Given the description of an element on the screen output the (x, y) to click on. 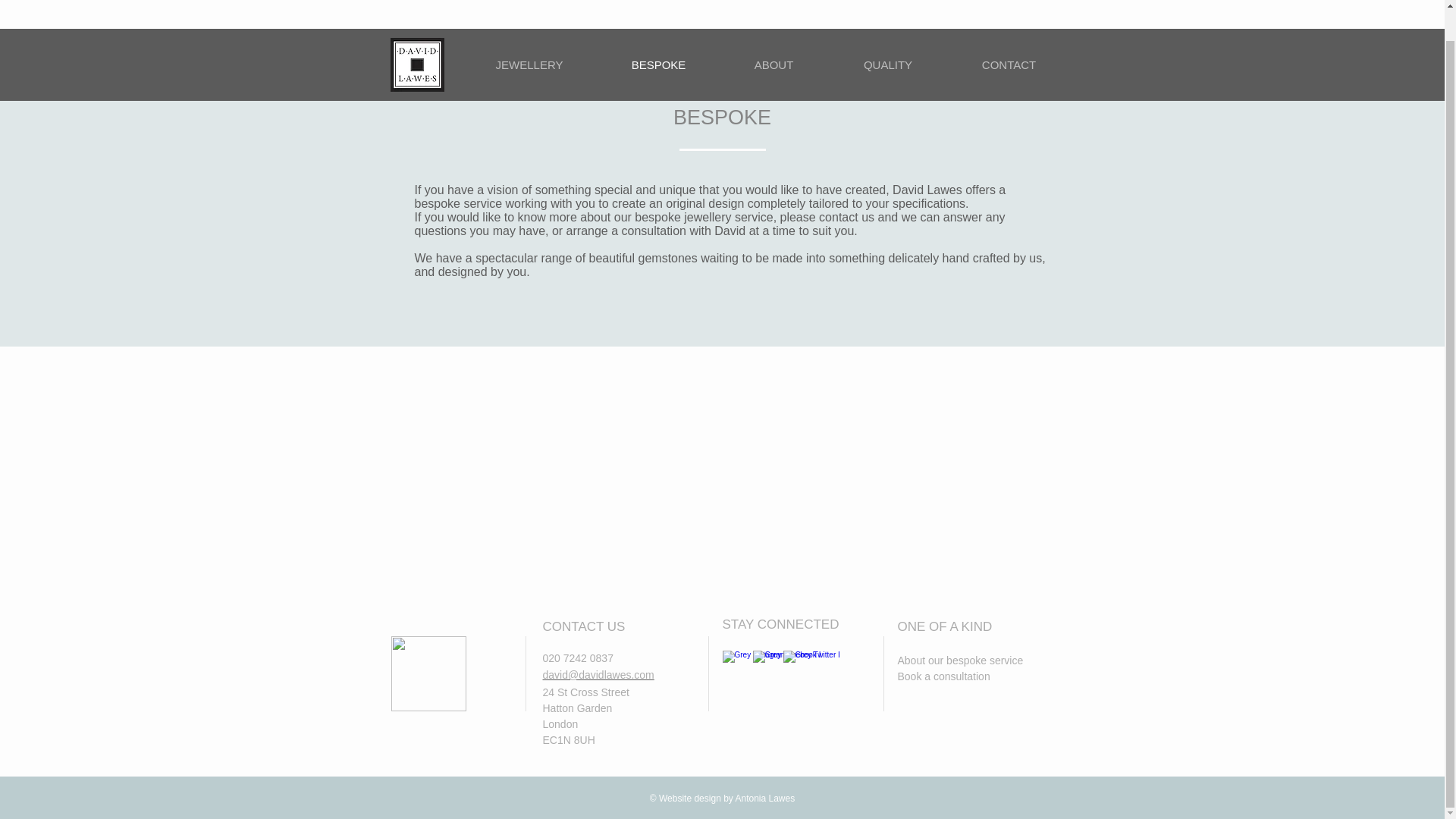
CONTACT US (584, 626)
CONTACT (1008, 32)
QUALITY (887, 32)
Book a consultation (944, 676)
ABOUT (773, 32)
About our bespoke service (960, 659)
BESPOKE (657, 32)
1.jpg (417, 32)
